Given the description of an element on the screen output the (x, y) to click on. 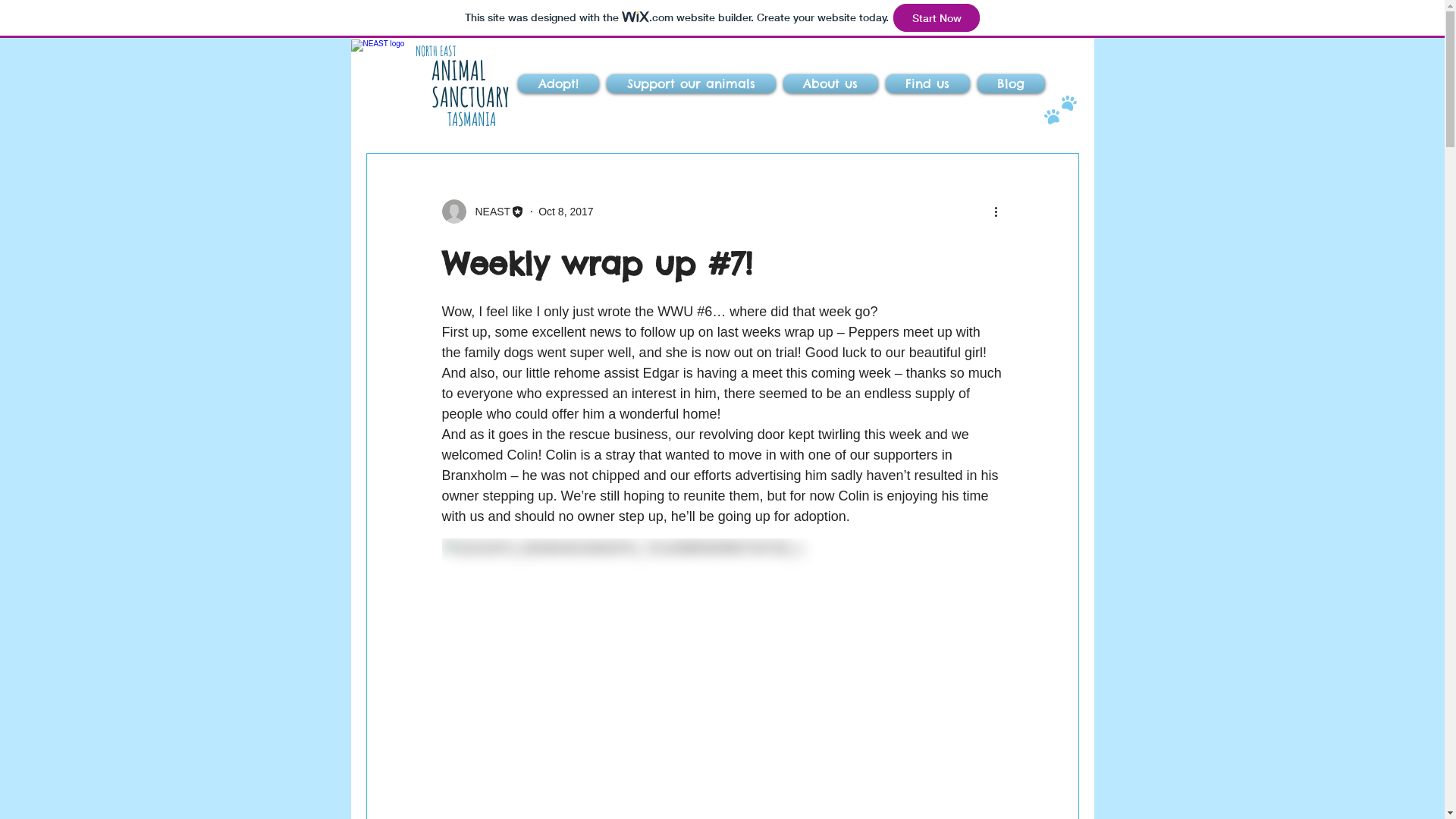
Support our animals Element type: text (690, 83)
About us Element type: text (830, 83)
TASMANIA Element type: text (471, 118)
SANCTUARY Element type: text (469, 96)
Home Element type: hover (402, 88)
Adopt! Element type: text (559, 83)
Blog Element type: text (1008, 83)
NORTH EAST Element type: text (435, 50)
ANIMAL Element type: text (457, 70)
Find us Element type: text (926, 83)
NEAST Element type: text (482, 211)
